Given the description of an element on the screen output the (x, y) to click on. 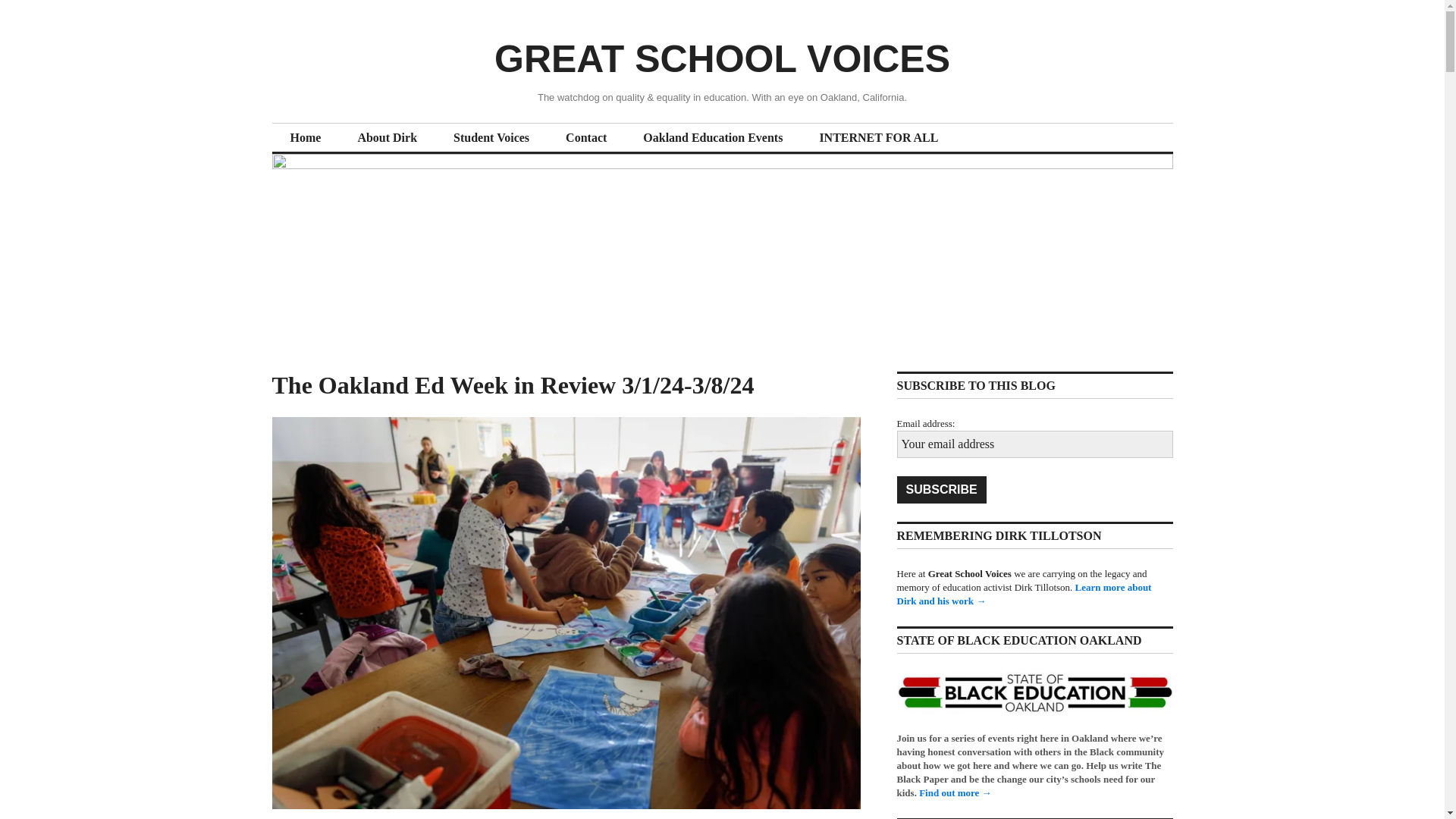
Student Voices (491, 137)
Subscribe (940, 489)
Home (304, 137)
About Dirk (387, 137)
Oakland Education Events (712, 137)
INTERNET FOR ALL (878, 137)
Contact (585, 137)
GREAT SCHOOL VOICES (722, 58)
